Given the description of an element on the screen output the (x, y) to click on. 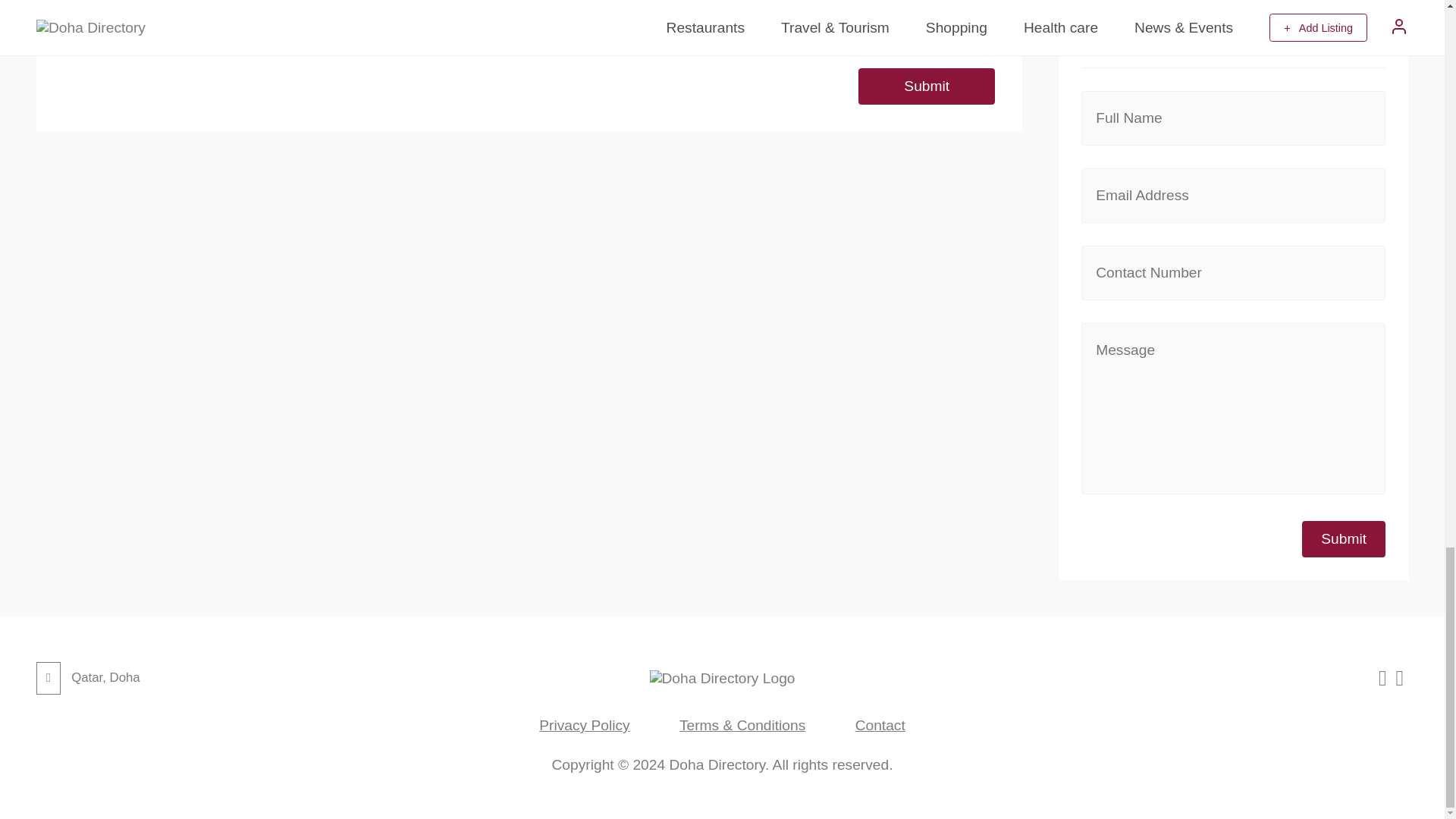
Submit (926, 85)
Submit (1343, 538)
Privacy Policy (583, 725)
Contact (880, 725)
